Given the description of an element on the screen output the (x, y) to click on. 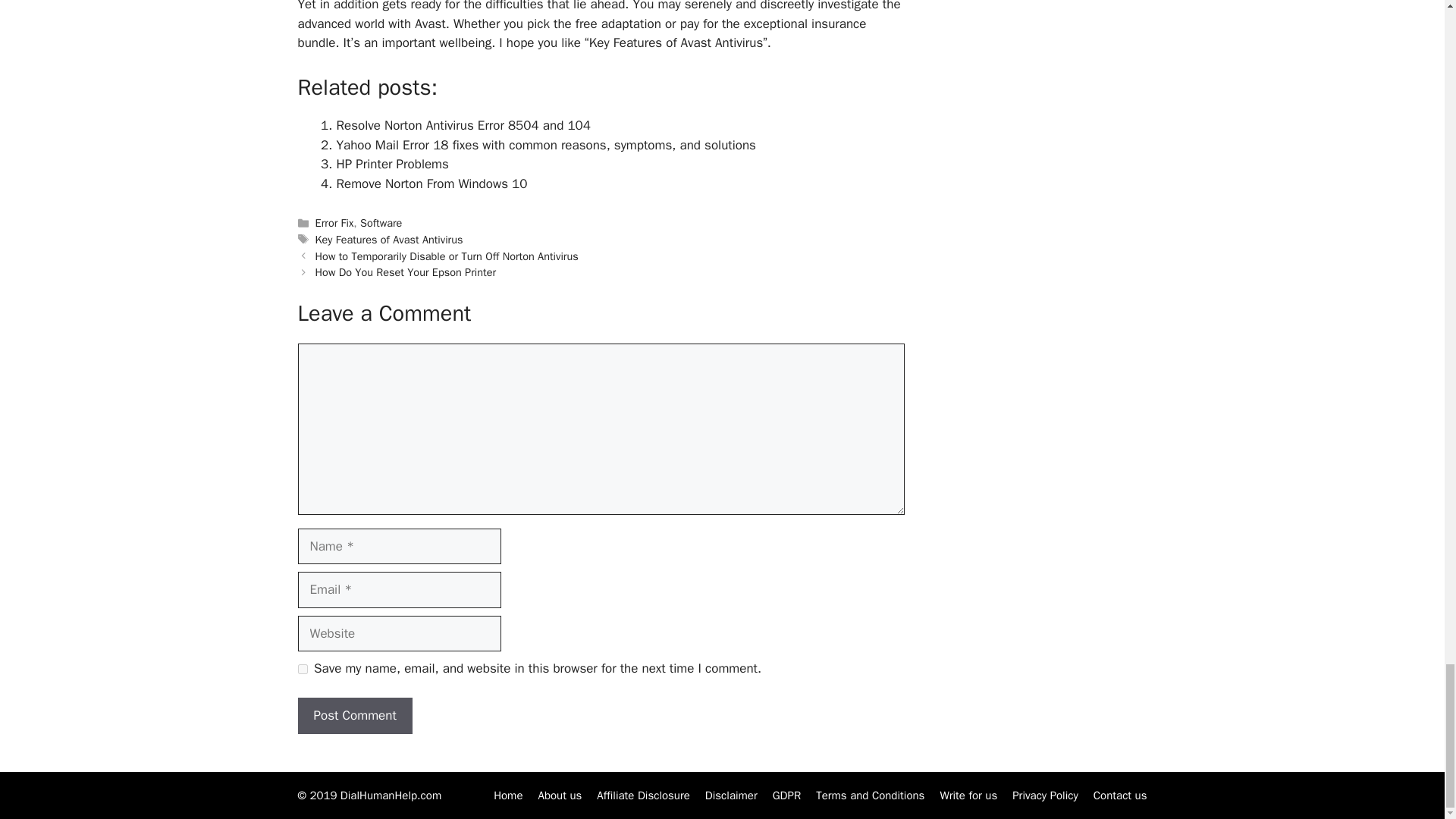
Key Features of Avast Antivirus (389, 239)
HP Printer Problems (392, 163)
Resolve Norton Antivirus Error 8504 and 104 (463, 125)
yes (302, 669)
HP Printer Problems (392, 163)
Error Fix (334, 223)
Software (380, 223)
Remove Norton From Windows 10 (431, 183)
Remove Norton From Windows 10 (431, 183)
